Given the description of an element on the screen output the (x, y) to click on. 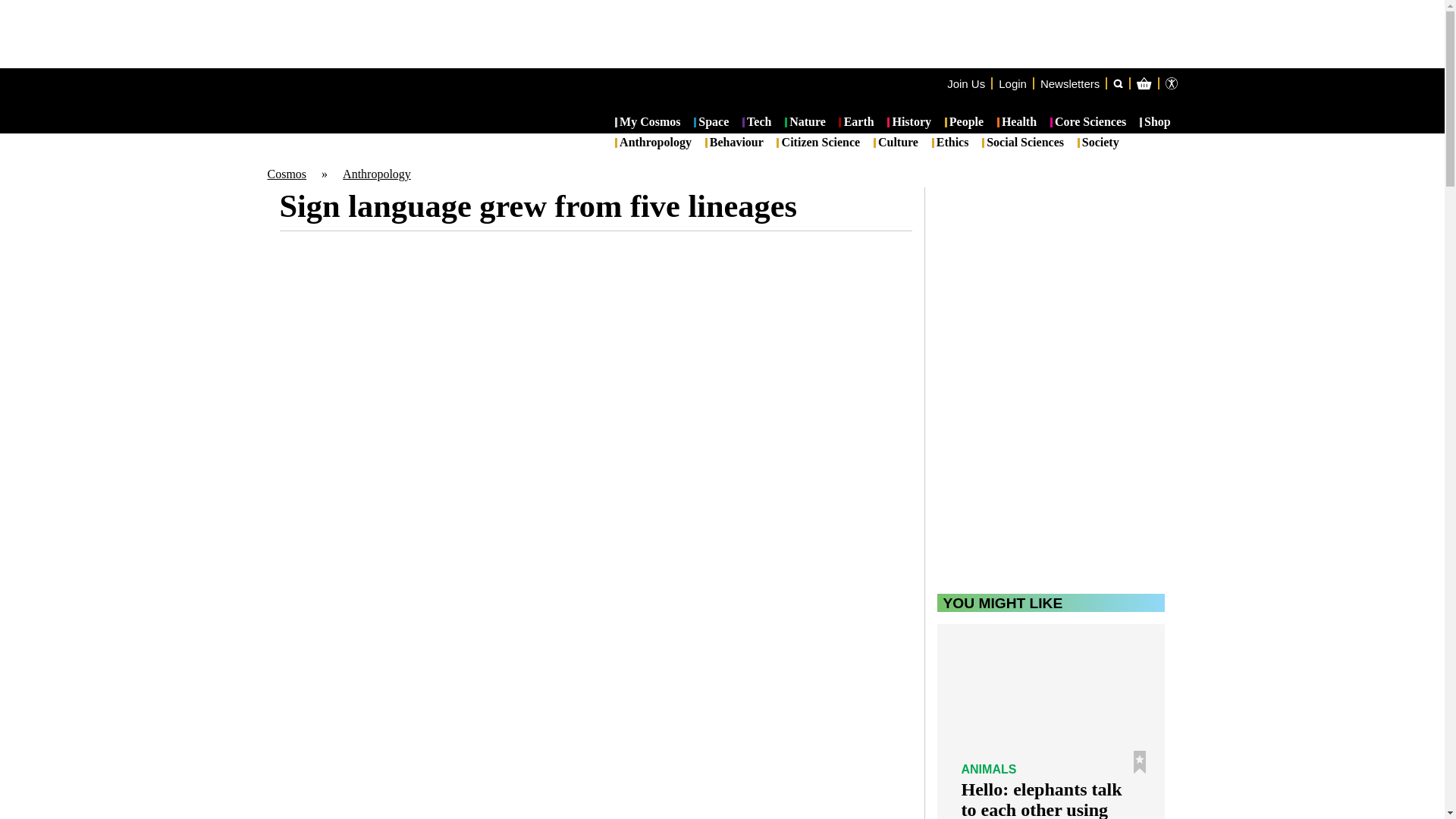
Tech (756, 122)
Anthropology (652, 143)
Culture (895, 143)
Newsletters (1070, 82)
Core Sciences (1087, 122)
Health (1016, 122)
Society (1098, 143)
My Cosmos (647, 122)
History (908, 122)
Cosmos (285, 173)
Nature (804, 122)
Ethics (950, 143)
Login (1012, 82)
Space (711, 122)
Cart (1223, 144)
